Given the description of an element on the screen output the (x, y) to click on. 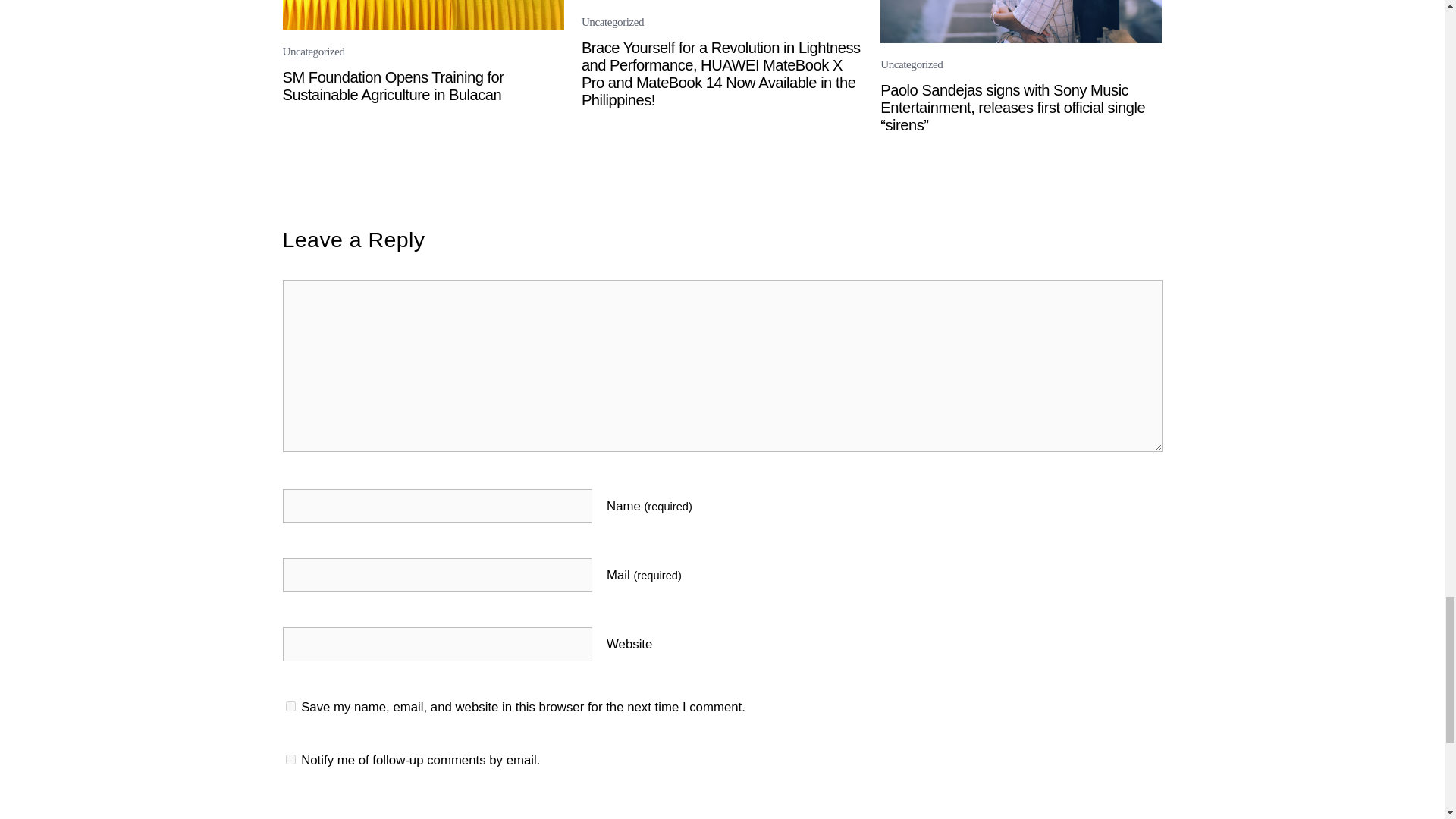
subscribe (290, 759)
Uncategorized (911, 64)
Uncategorized (312, 51)
yes (290, 706)
Uncategorized (611, 21)
